Given the description of an element on the screen output the (x, y) to click on. 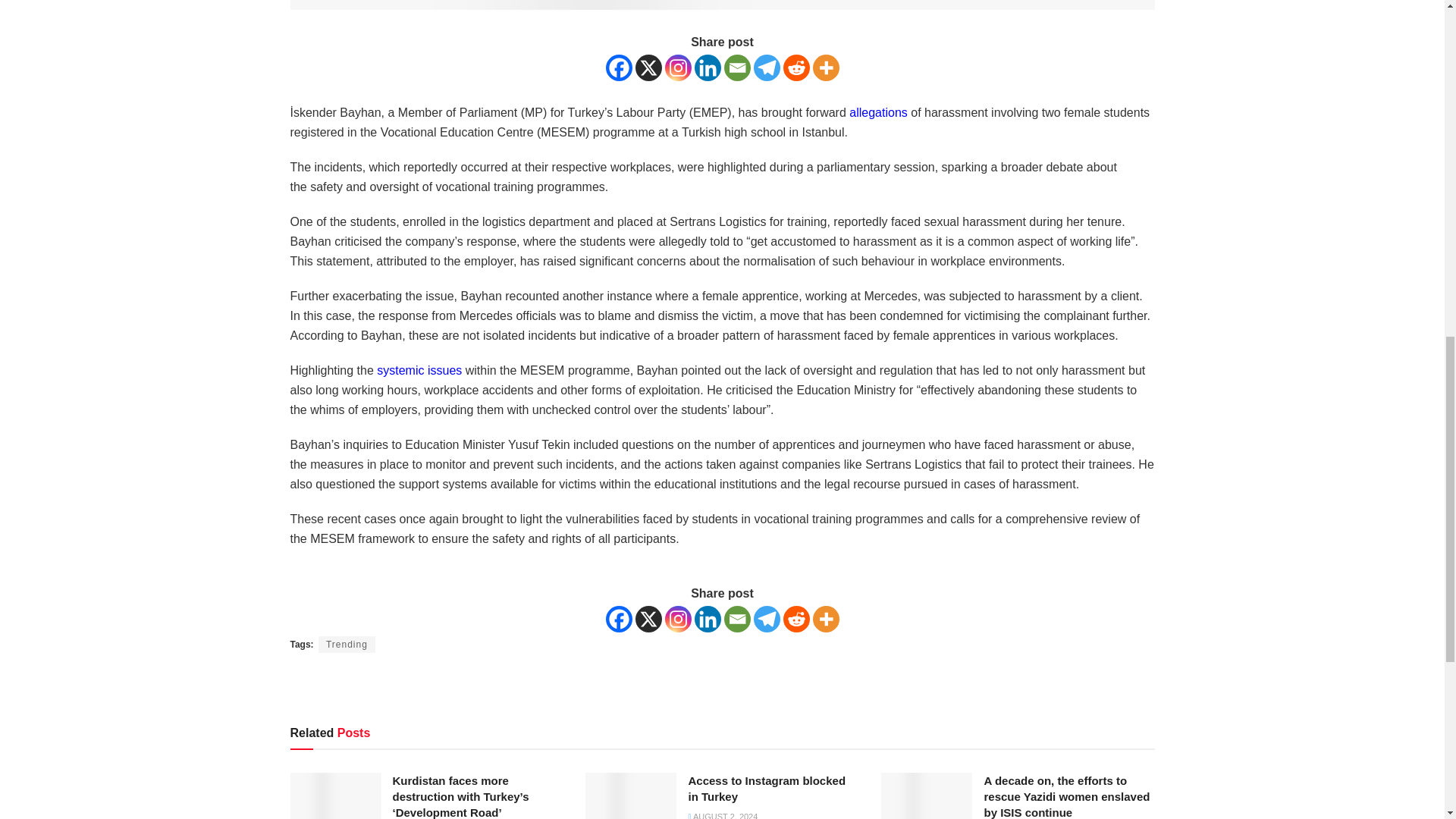
Telegram (767, 67)
Facebook (618, 67)
More (826, 67)
X (648, 619)
Instagram (676, 67)
Facebook (618, 619)
Telegram (767, 619)
Email (736, 67)
Reddit (796, 67)
Linkedin (707, 619)
Instagram (676, 619)
Linkedin (707, 67)
Email (736, 619)
X (648, 67)
